Given the description of an element on the screen output the (x, y) to click on. 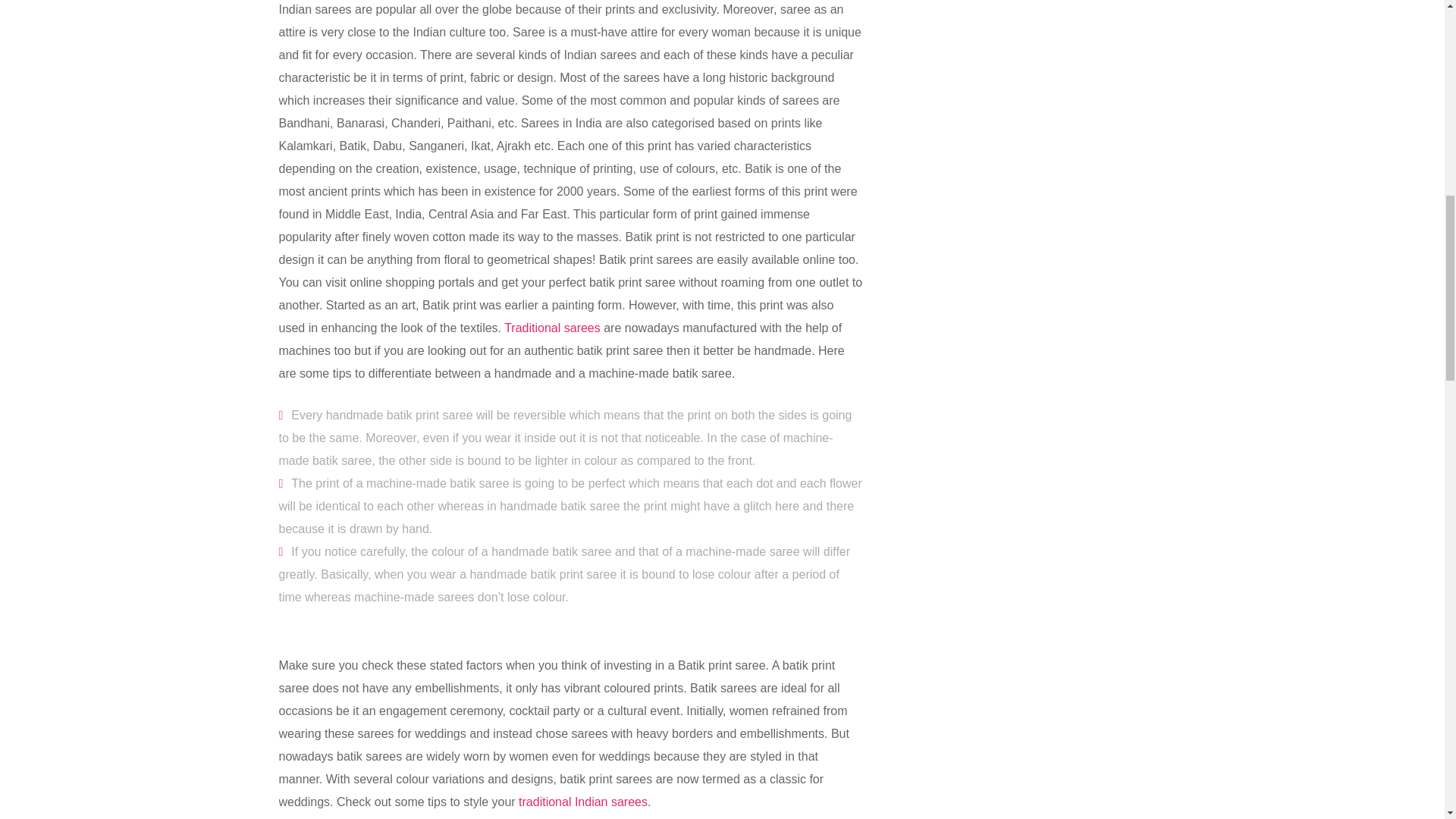
Traditional sarees (551, 327)
traditional Indian sarees (582, 801)
